Given the description of an element on the screen output the (x, y) to click on. 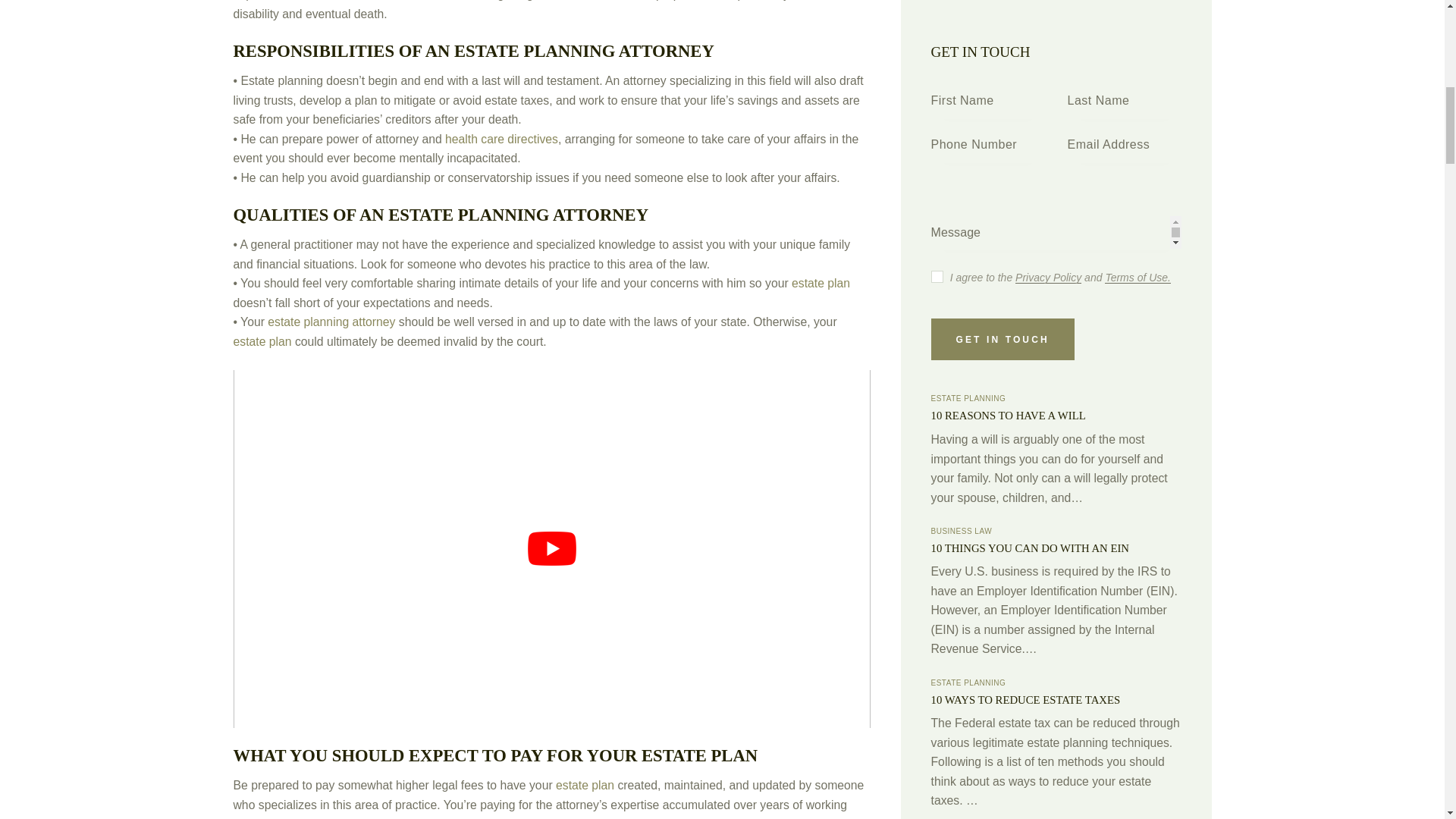
Home (946, 540)
Estate Planning (1017, 540)
